Given the description of an element on the screen output the (x, y) to click on. 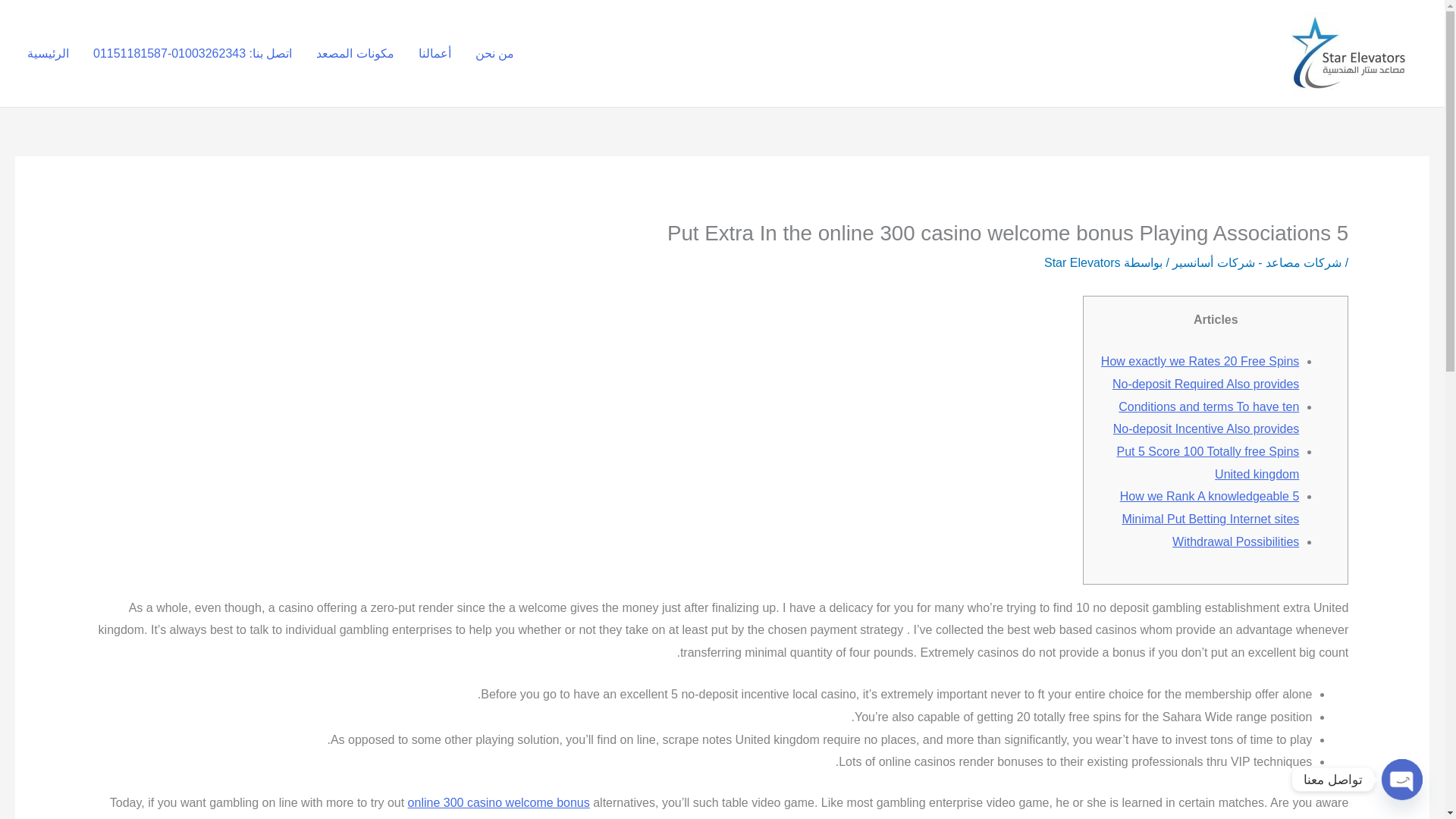
Star Elevators (1081, 262)
Put 5 Score 100 Totally free Spins United kingdom (1208, 462)
online 300 casino welcome bonus (498, 802)
Withdrawal Possibilities (1235, 541)
